Given the description of an element on the screen output the (x, y) to click on. 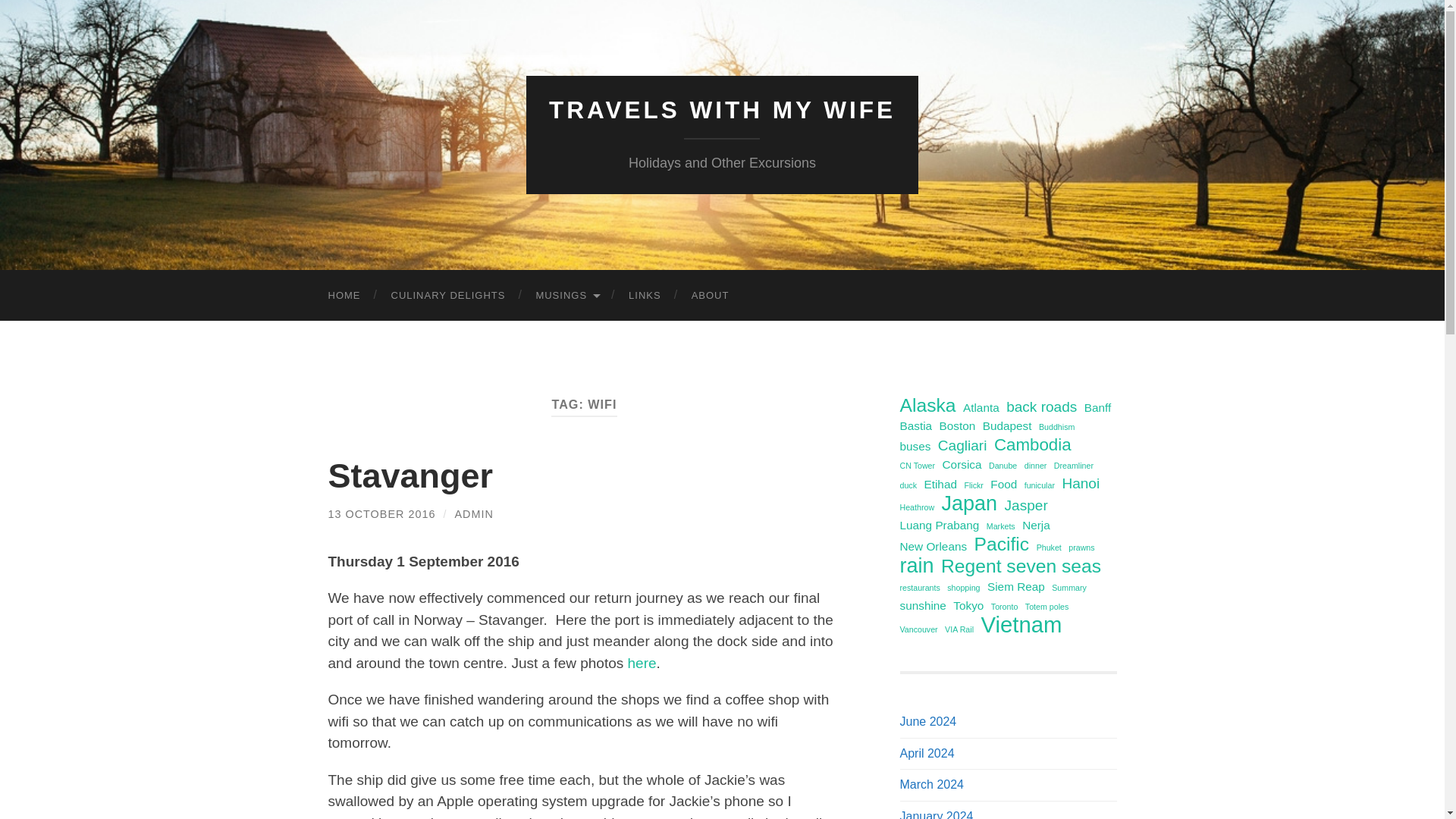
back roads (1041, 407)
Buddhism (1056, 426)
TRAVELS WITH MY WIFE (721, 109)
Budapest (1007, 425)
Corsica (961, 464)
Cambodia (1032, 444)
Stavanger (410, 475)
ABOUT (710, 295)
CN Tower (916, 465)
Alaska (927, 405)
